Given the description of an element on the screen output the (x, y) to click on. 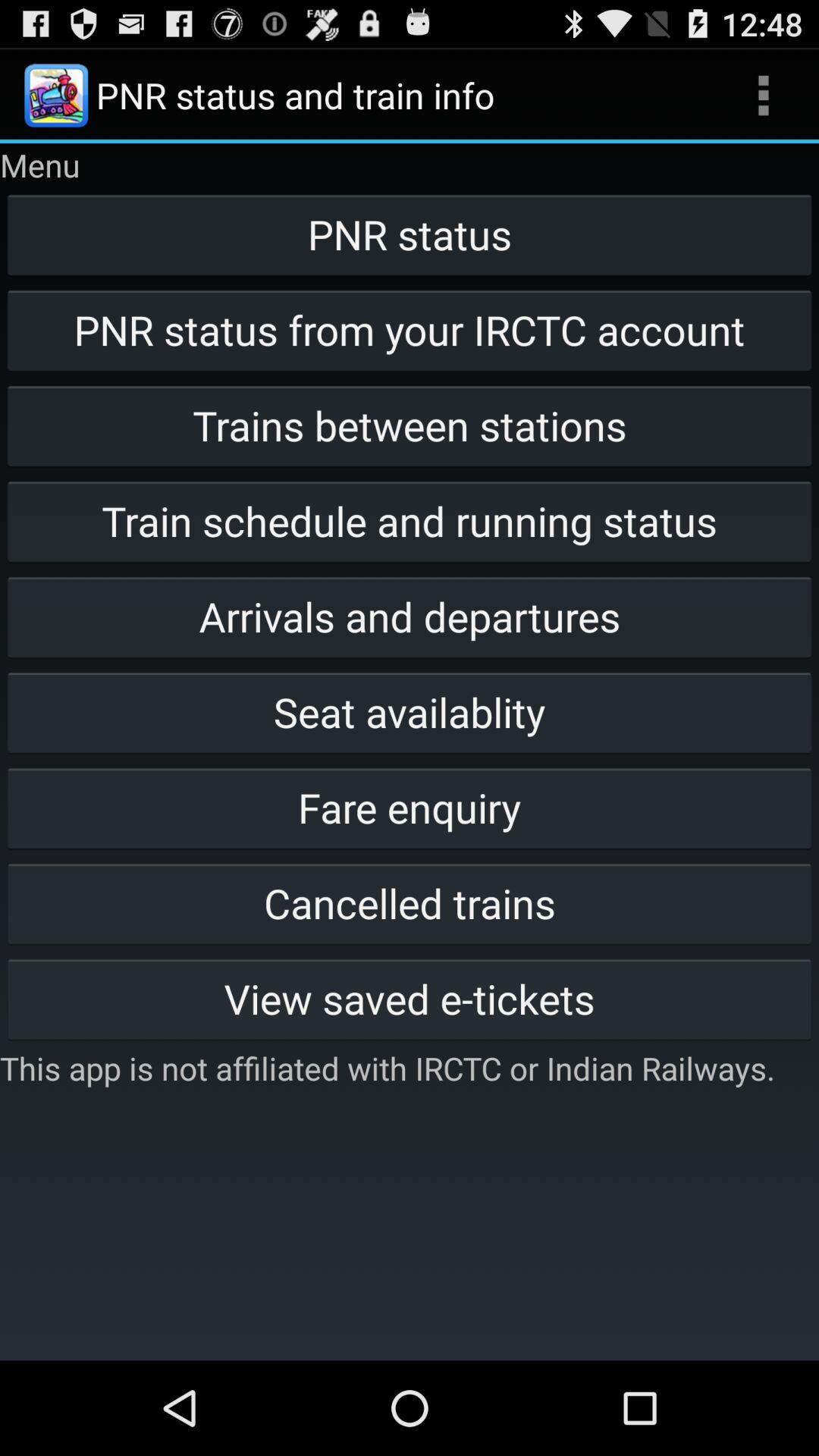
go to above menu (55, 95)
